Given the description of an element on the screen output the (x, y) to click on. 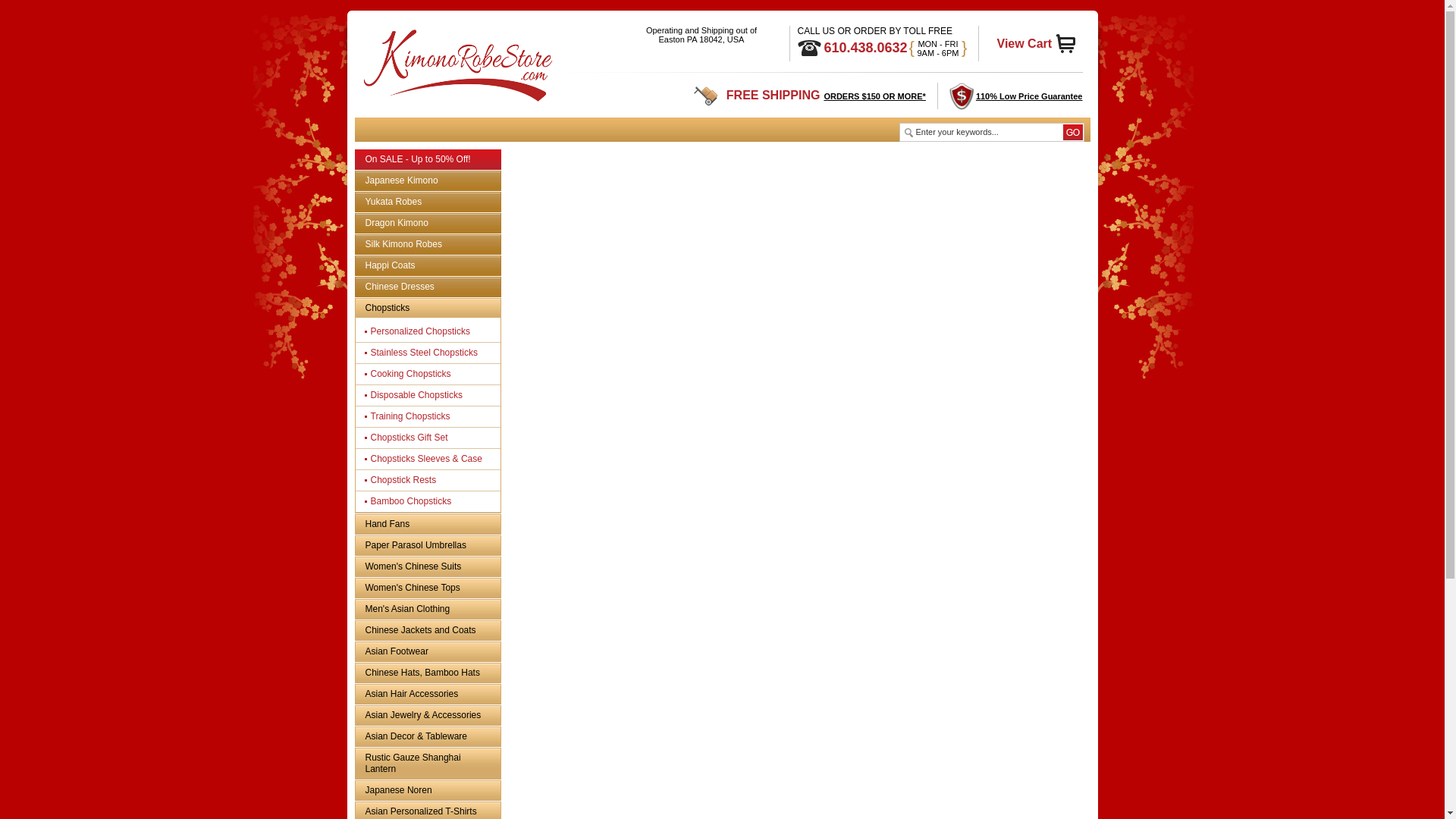
Japanese Kimono (427, 180)
Asian Hair Accessories (427, 693)
Chinese Hats, Bamboo Hats (427, 672)
Happi Coats (427, 265)
Chopsticks Gift Set (431, 437)
Yukata Robes (427, 201)
Go (1072, 132)
Women's Chinese Suits (427, 566)
Happi Coats (427, 265)
Disposable Chopsticks (431, 394)
Chopsticks (427, 307)
Training Chopsticks (431, 416)
Stainless Steel Chopsticks (431, 352)
Cooking Chopsticks (431, 374)
Japanese Kimono (427, 180)
